Given the description of an element on the screen output the (x, y) to click on. 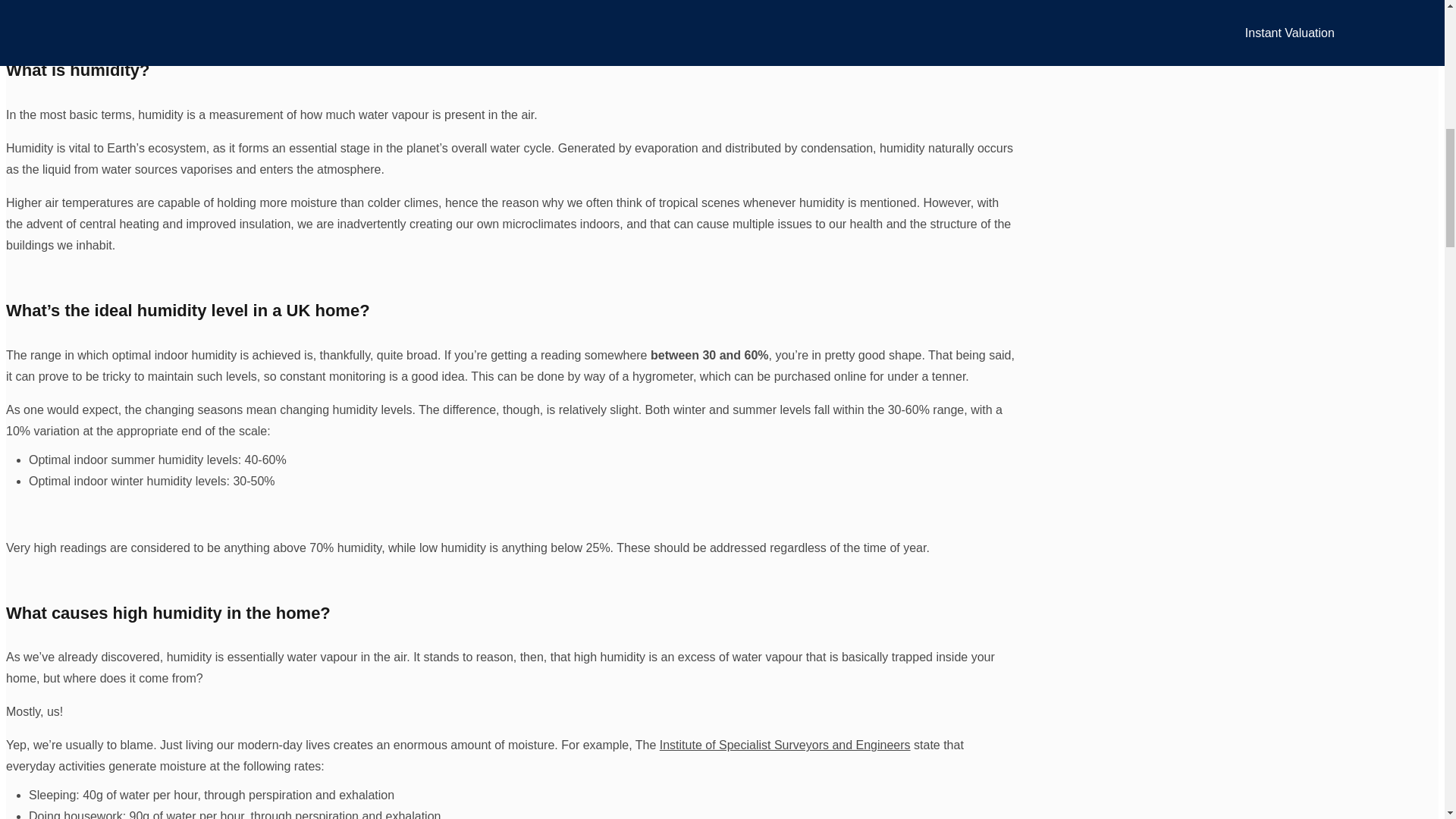
Institute of Specialist Surveyors and Engineers (785, 744)
